Given the description of an element on the screen output the (x, y) to click on. 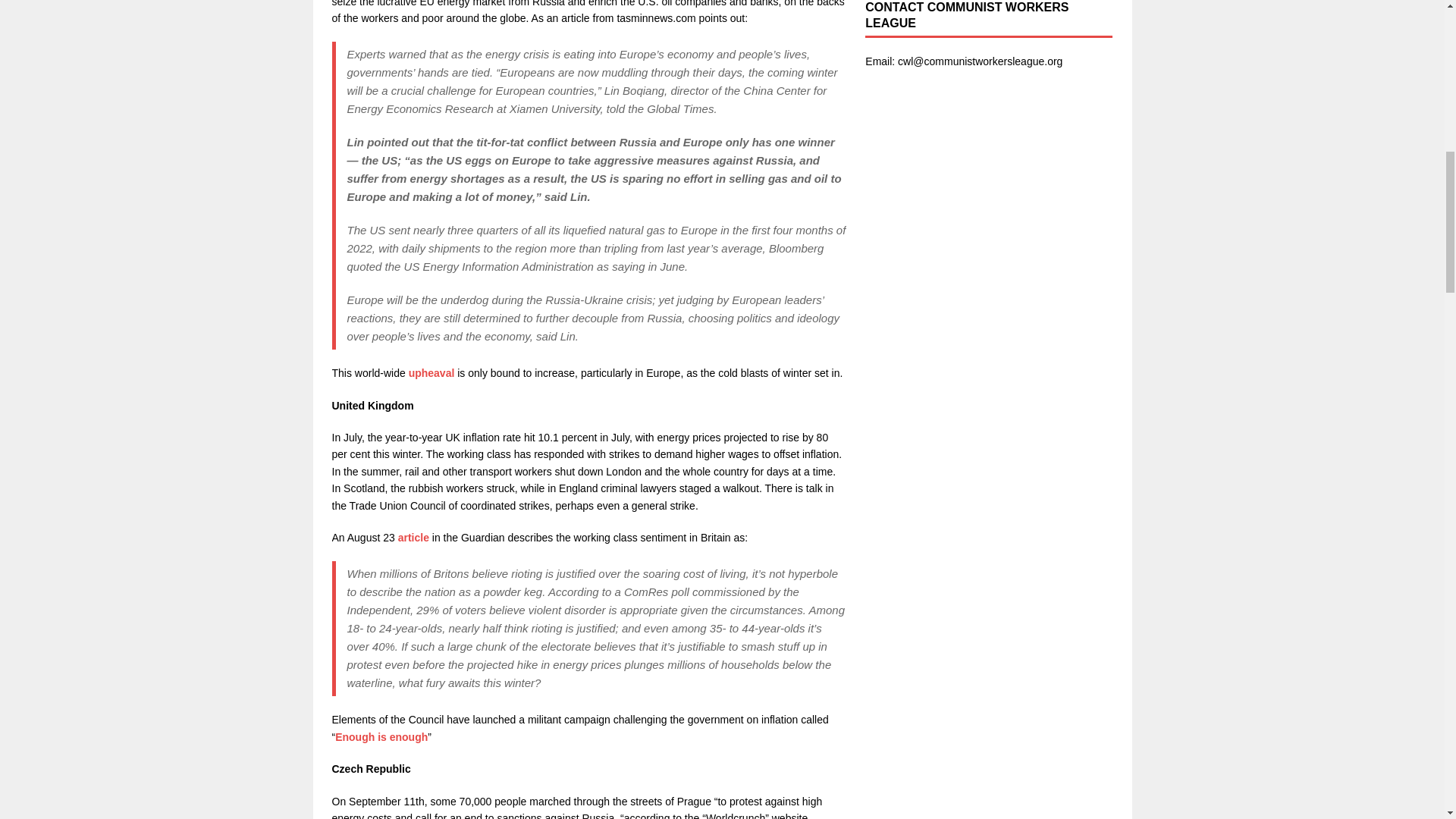
upheaval (431, 372)
article (411, 537)
Enough is enough (381, 736)
